Given the description of an element on the screen output the (x, y) to click on. 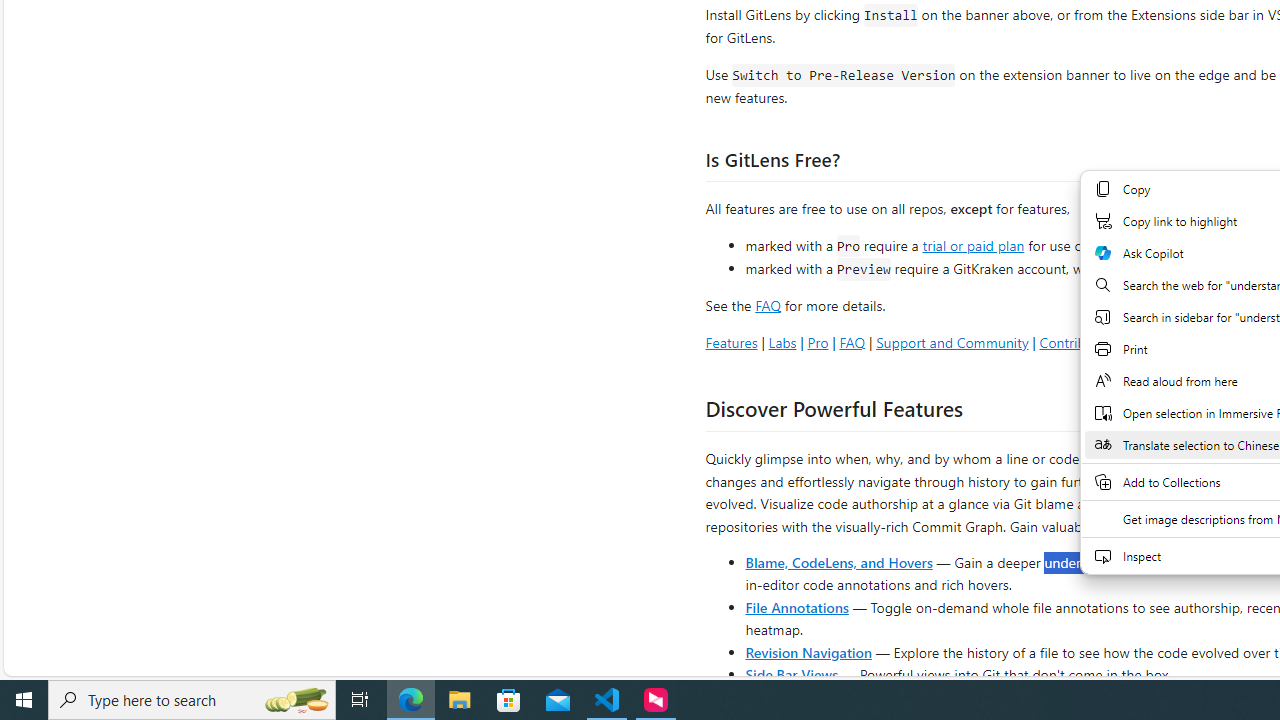
FAQ (852, 341)
Side Bar Views (791, 673)
trial or paid plan (973, 244)
Revision Navigation (807, 651)
File Annotations (796, 606)
License (1240, 341)
Support and Community (952, 341)
Labs (782, 341)
Features (731, 341)
Blame, CodeLens, and Hovers (838, 561)
Pro (817, 341)
Contributing (1078, 341)
Contributors (1167, 341)
